Given the description of an element on the screen output the (x, y) to click on. 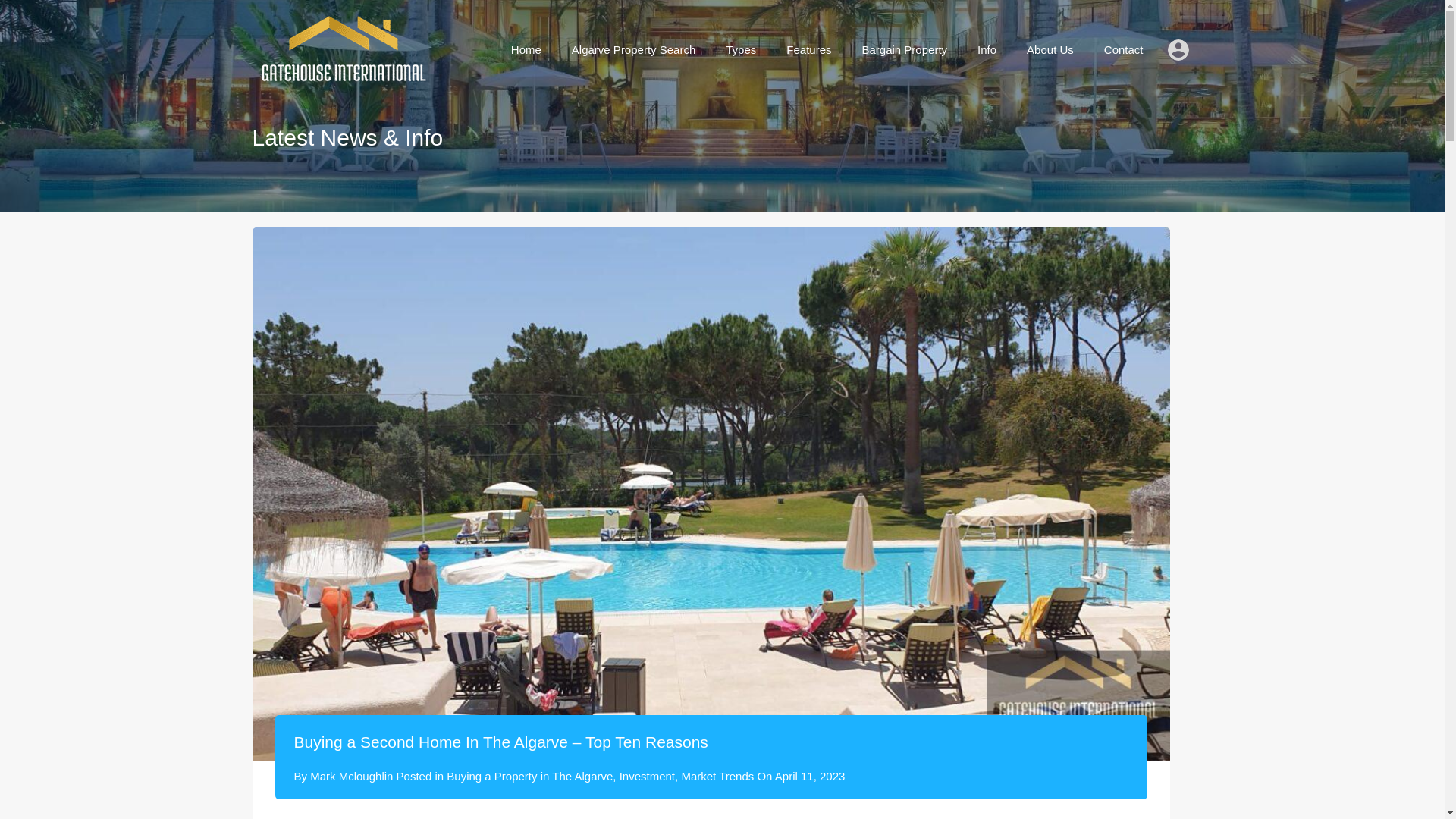
Algarve Property For Sale (340, 76)
